Given the description of an element on the screen output the (x, y) to click on. 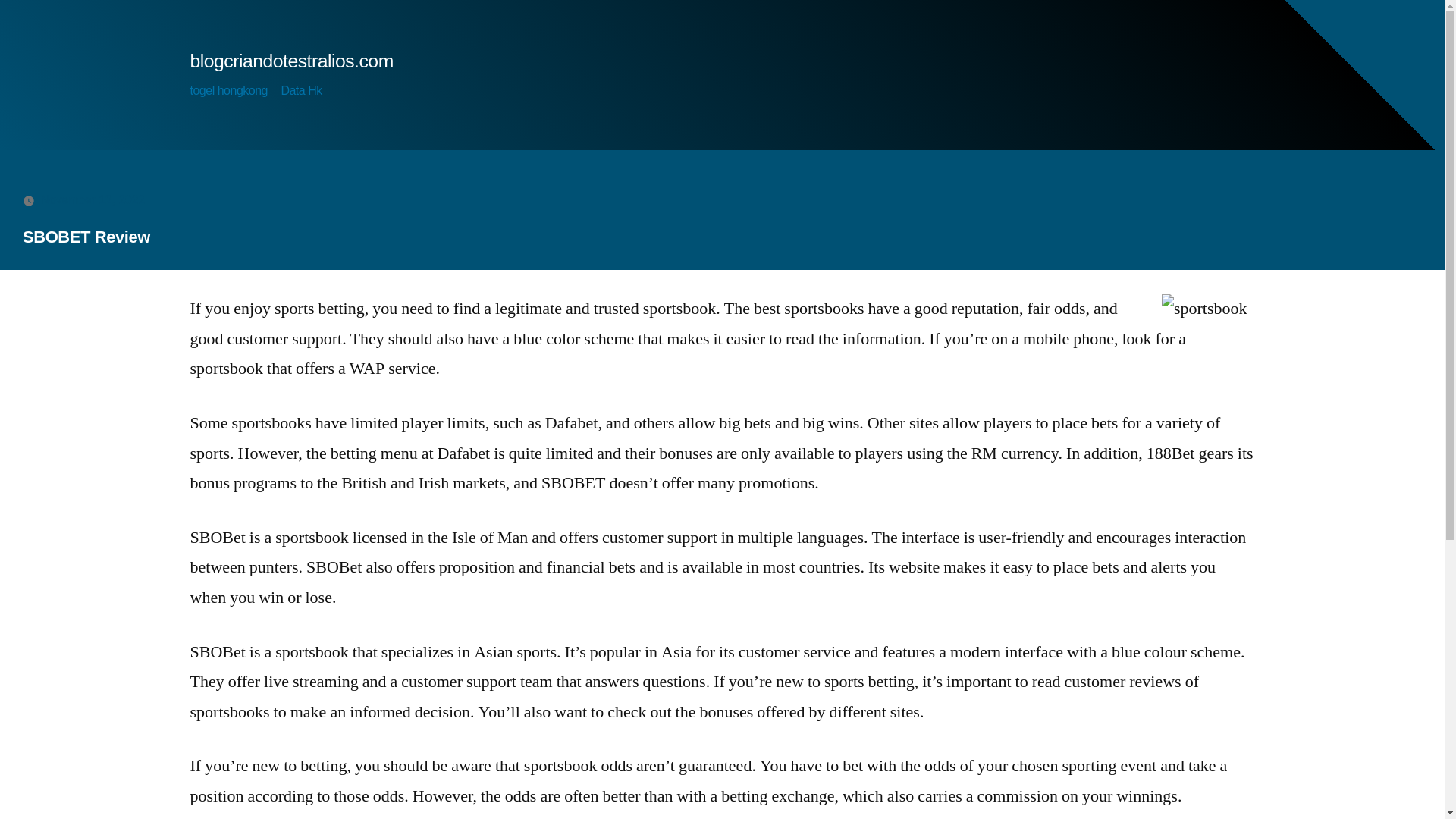
Data Hk (301, 90)
togel hongkong (228, 90)
November 12, 2022 (92, 199)
blogcriandotestralios.com (291, 60)
